Given the description of an element on the screen output the (x, y) to click on. 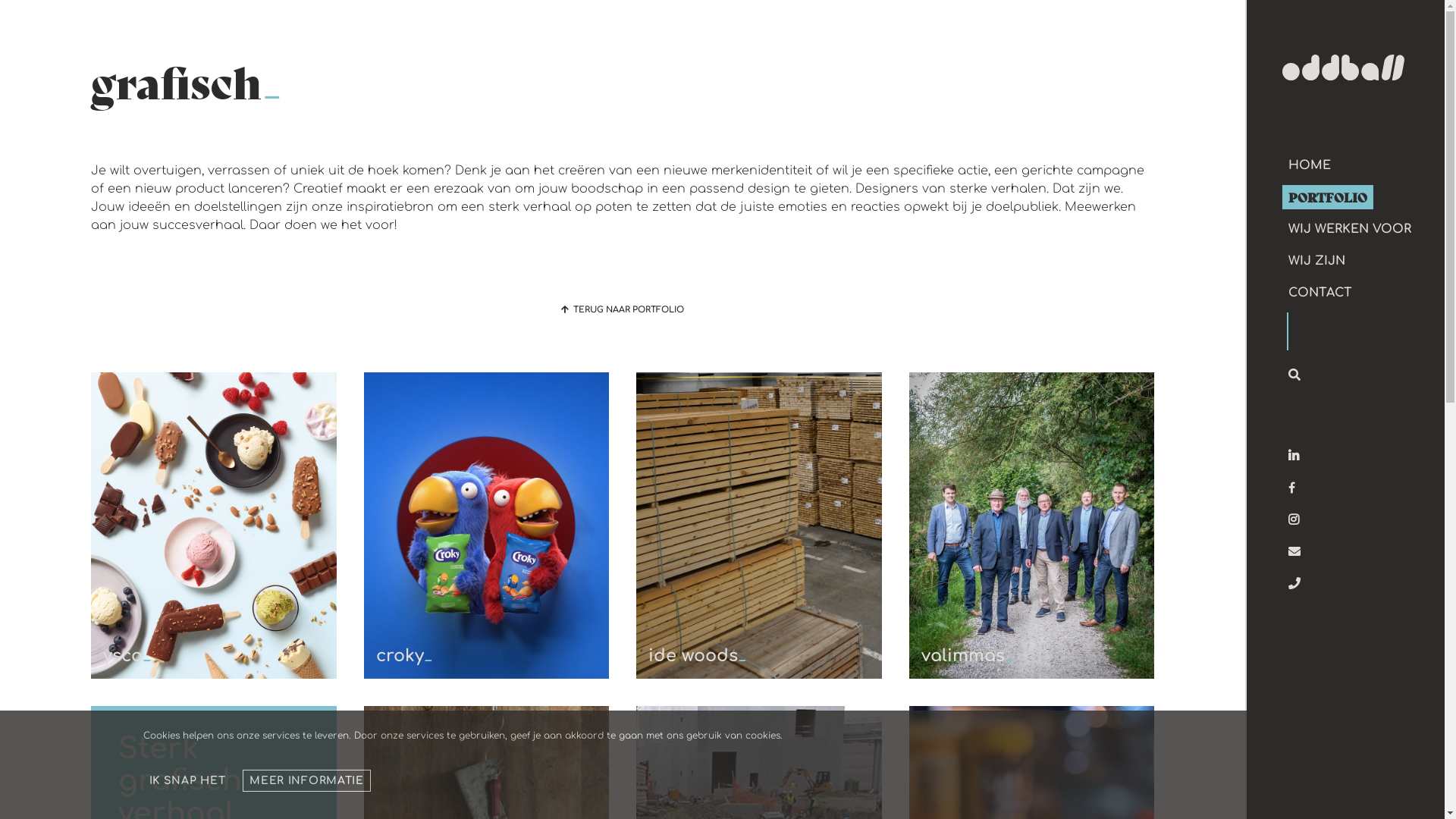
HOME Element type: text (1309, 165)
PORTFOLIO Element type: text (1327, 197)
CONTACT Element type: text (1320, 292)
valimmas Element type: text (1031, 525)
ide woods Element type: text (758, 525)
croky Element type: text (486, 525)
WIJ ZIJN Element type: text (1316, 260)
TERUG NAAR PORTFOLIO Element type: text (622, 309)
WIJ WERKEN VOOR Element type: text (1349, 228)
ysco Element type: text (213, 525)
